Given the description of an element on the screen output the (x, y) to click on. 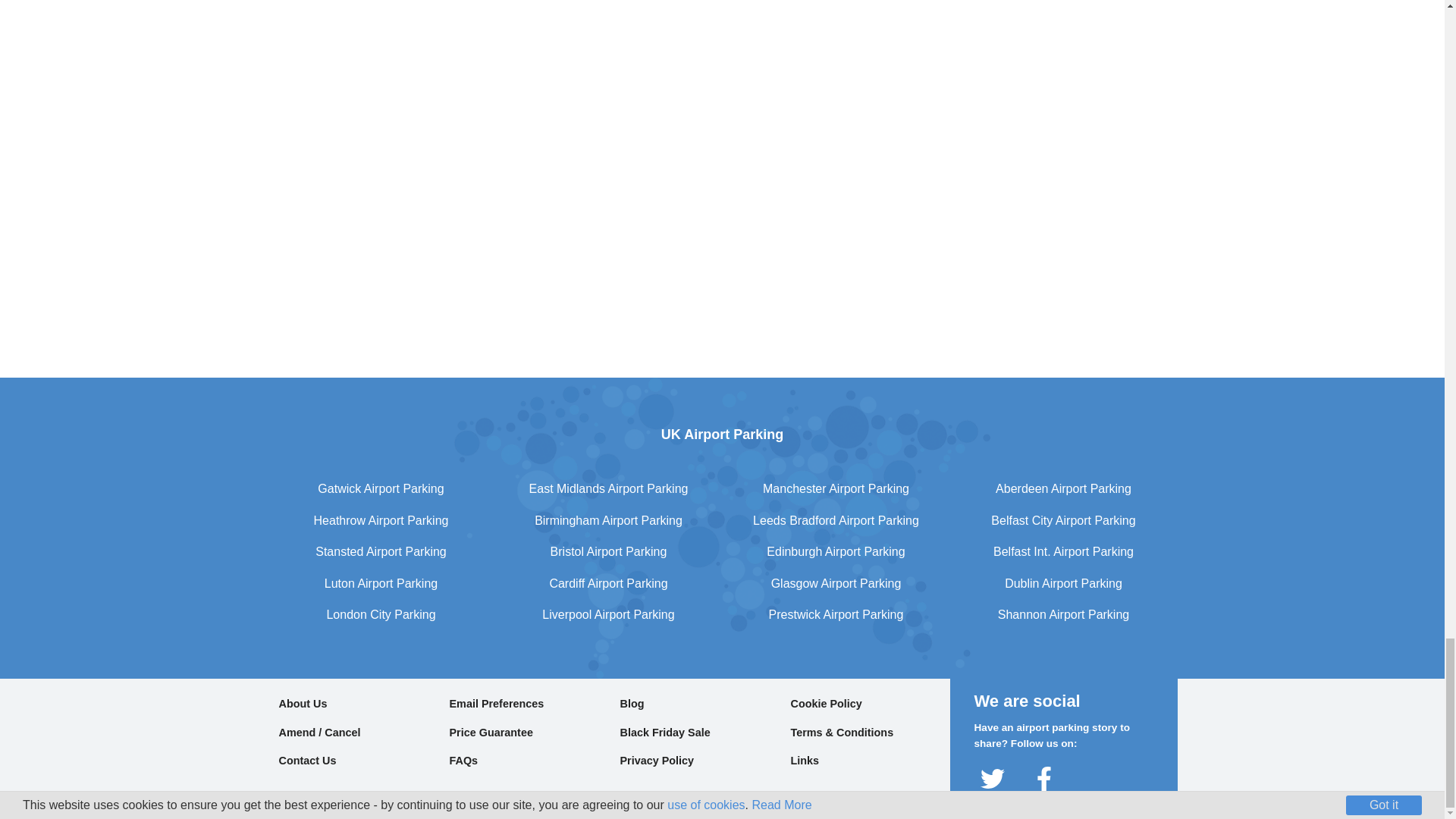
Find out more about BCP (608, 76)
Find out more about FHR (1063, 76)
Find out more about APH (380, 76)
Find out more about Essential Travel (835, 76)
